Given the description of an element on the screen output the (x, y) to click on. 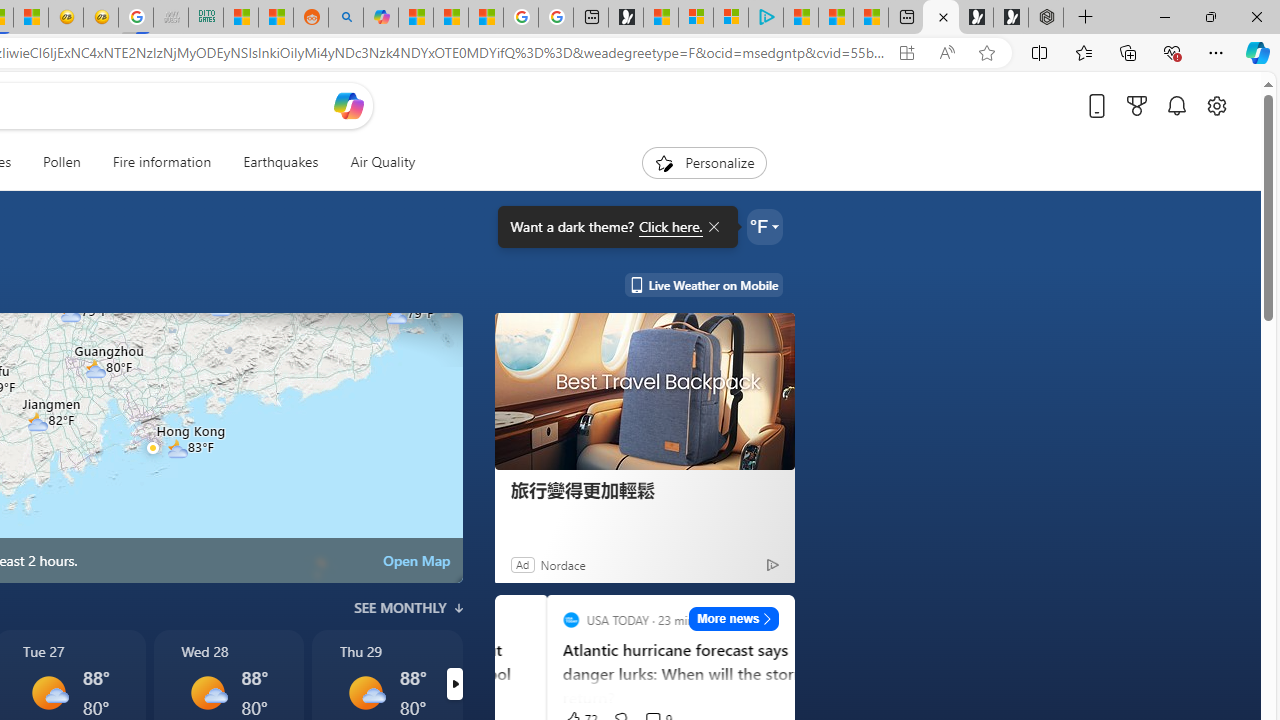
Open Map (416, 560)
Class: BubbleMessageCloseIcon-DS-EntryPoint1-1 (712, 227)
Air Quality (375, 162)
More news (733, 618)
